Given the description of an element on the screen output the (x, y) to click on. 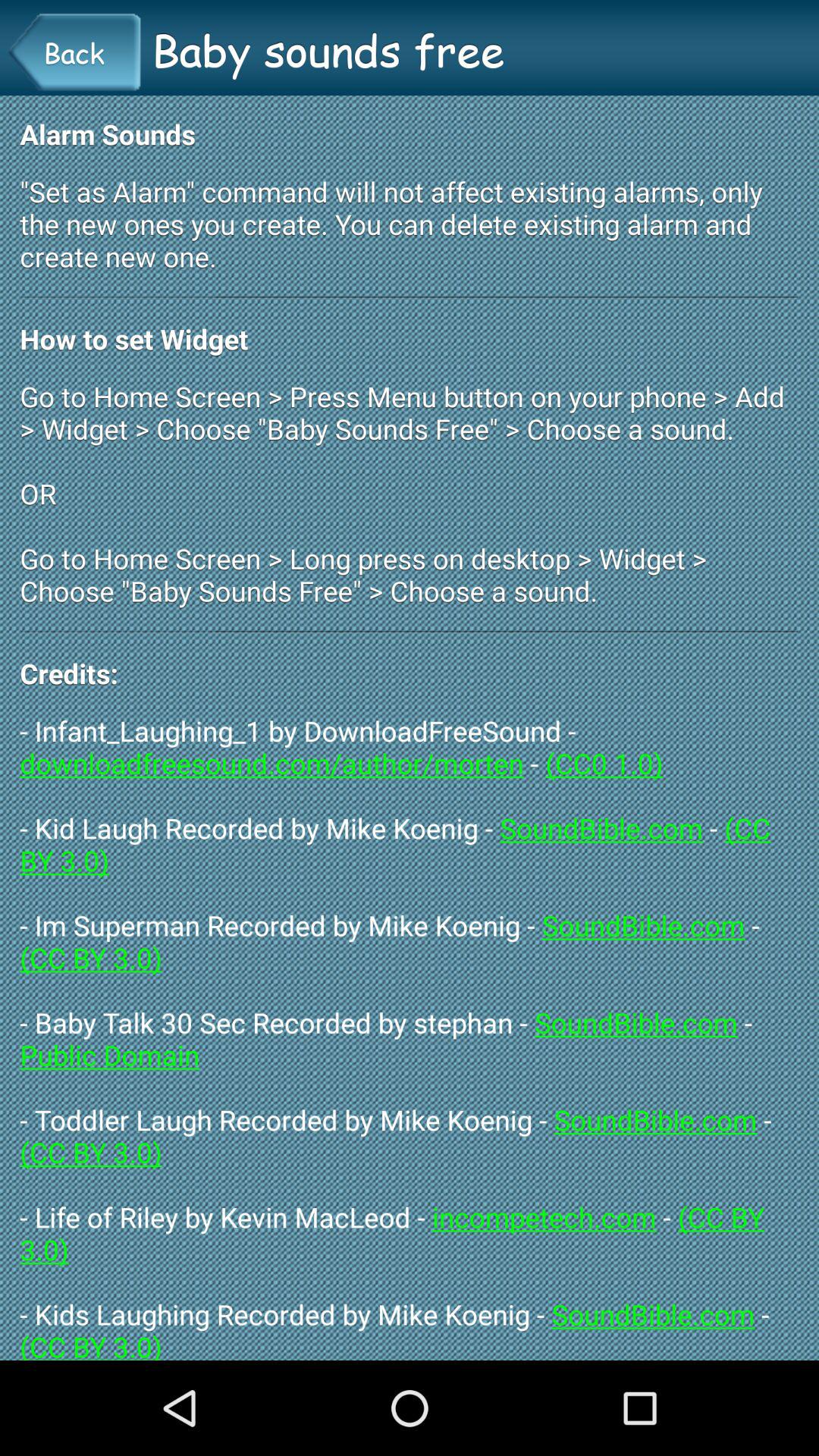
jump until back button (73, 52)
